Given the description of an element on the screen output the (x, y) to click on. 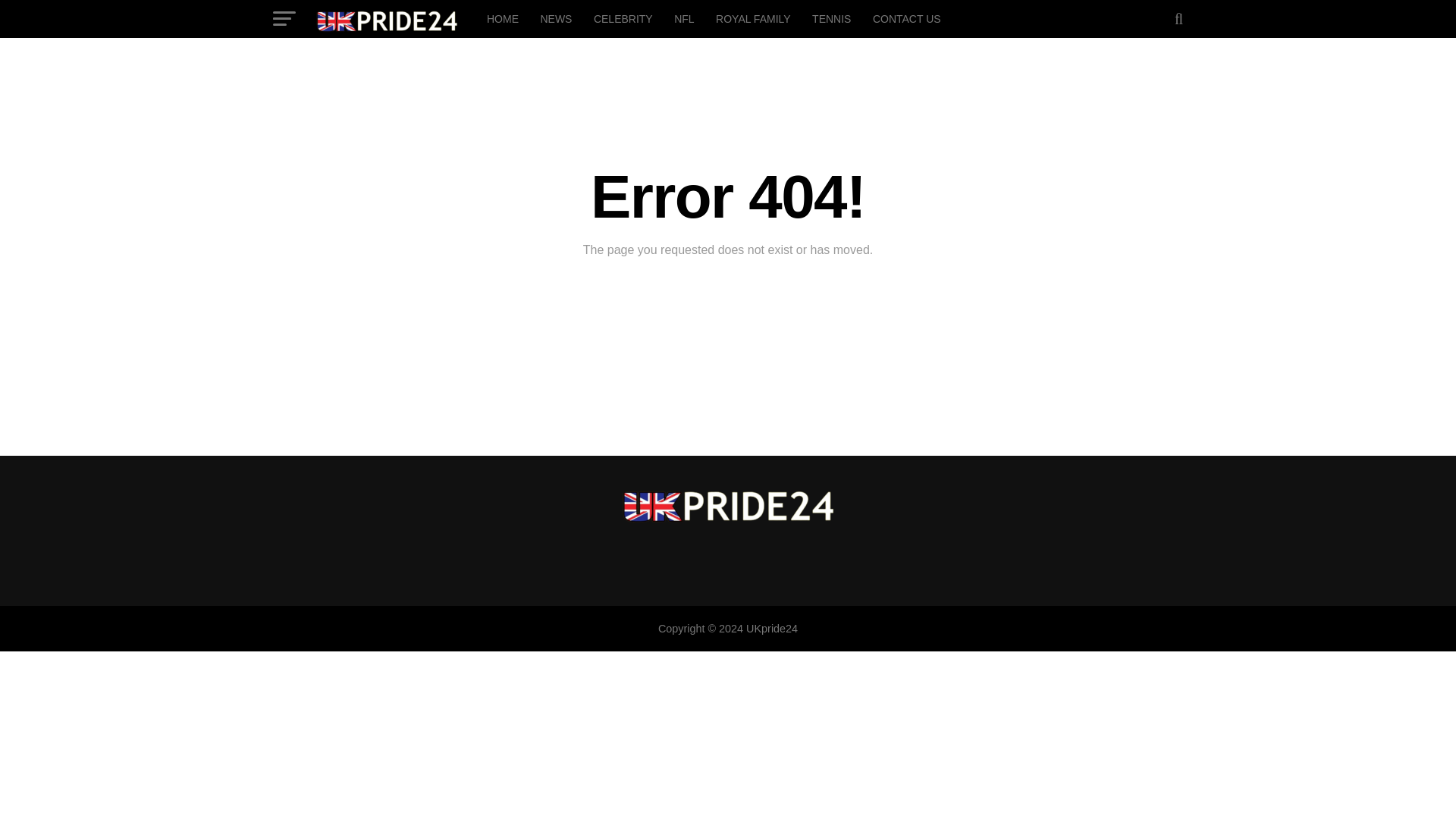
CELEBRITY (623, 18)
NEWS (555, 18)
TENNIS (831, 18)
ROYAL FAMILY (752, 18)
NFL (684, 18)
HOME (502, 18)
CONTACT US (906, 18)
